Given the description of an element on the screen output the (x, y) to click on. 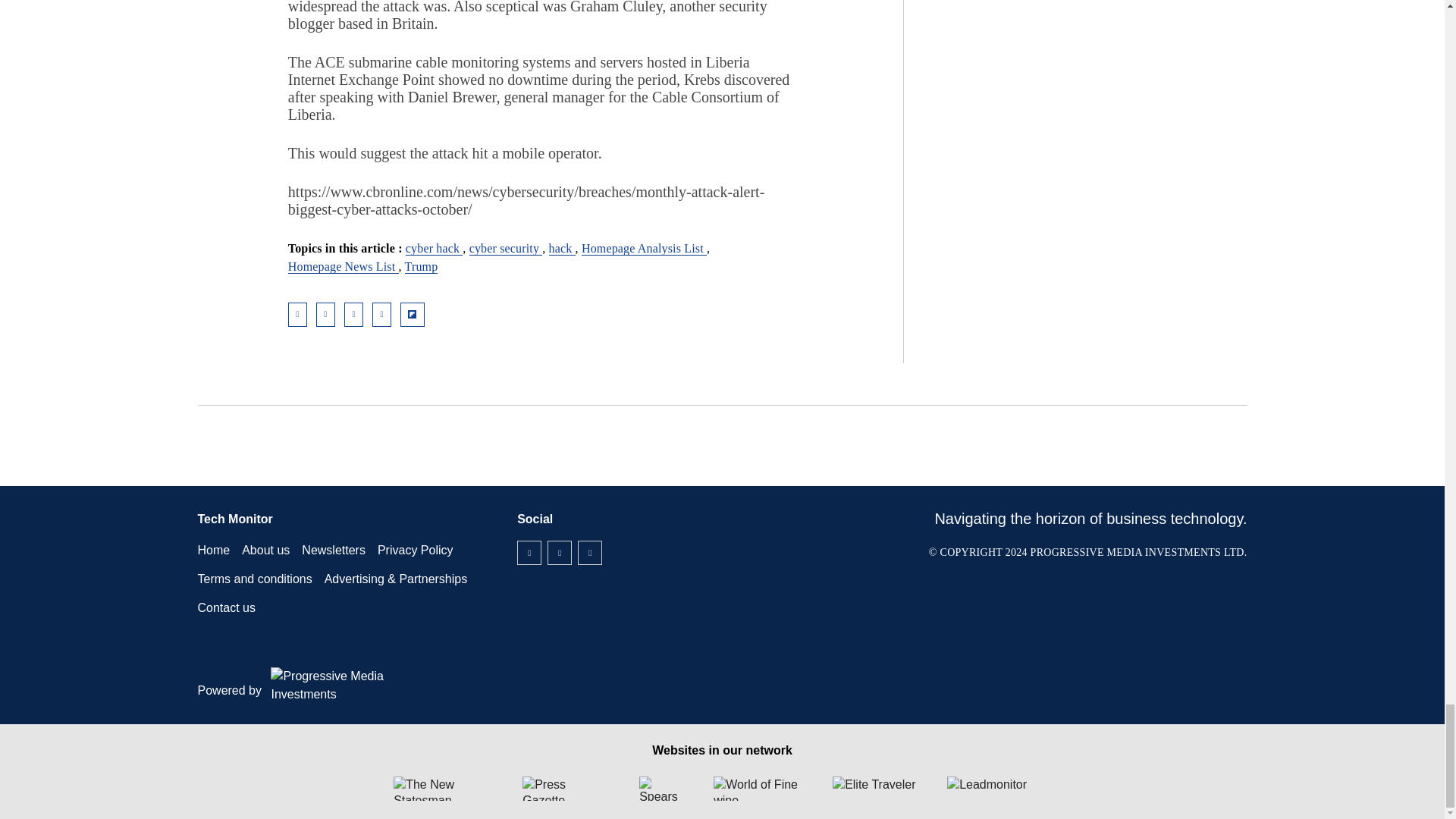
Share on Flipboard (412, 314)
